Given the description of an element on the screen output the (x, y) to click on. 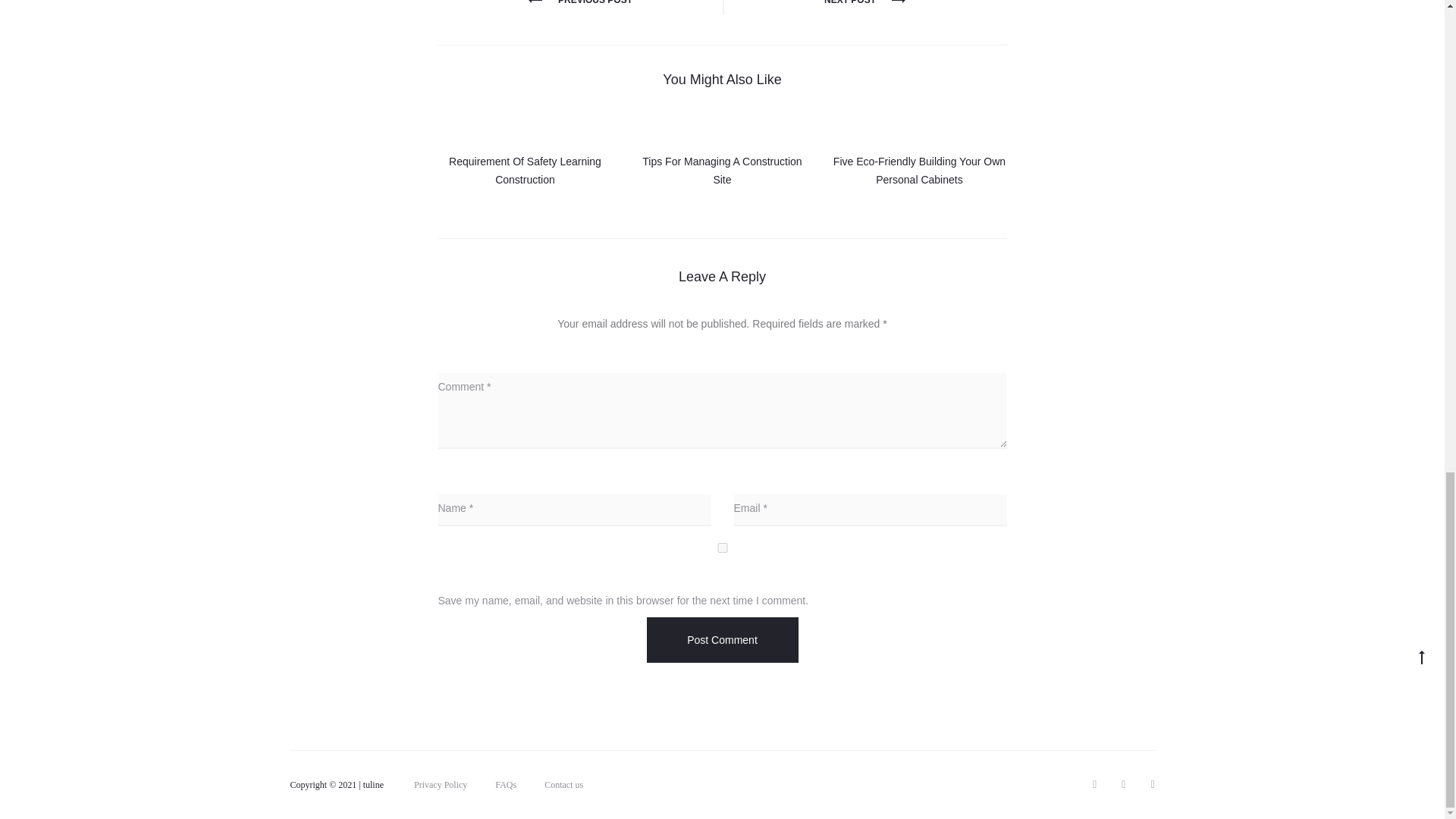
Five Eco-Friendly Building Your Own Personal Cabinets (919, 170)
FAQs (505, 784)
Post Comment (721, 639)
PREVIOUS POST (579, 2)
Privacy Policy (440, 784)
NEXT POST (864, 2)
Contact us (563, 784)
Requirement Of Safety Learning Construction (524, 170)
Post Comment (721, 639)
Tips For Managing A Construction Site (722, 170)
yes (722, 547)
